Given the description of an element on the screen output the (x, y) to click on. 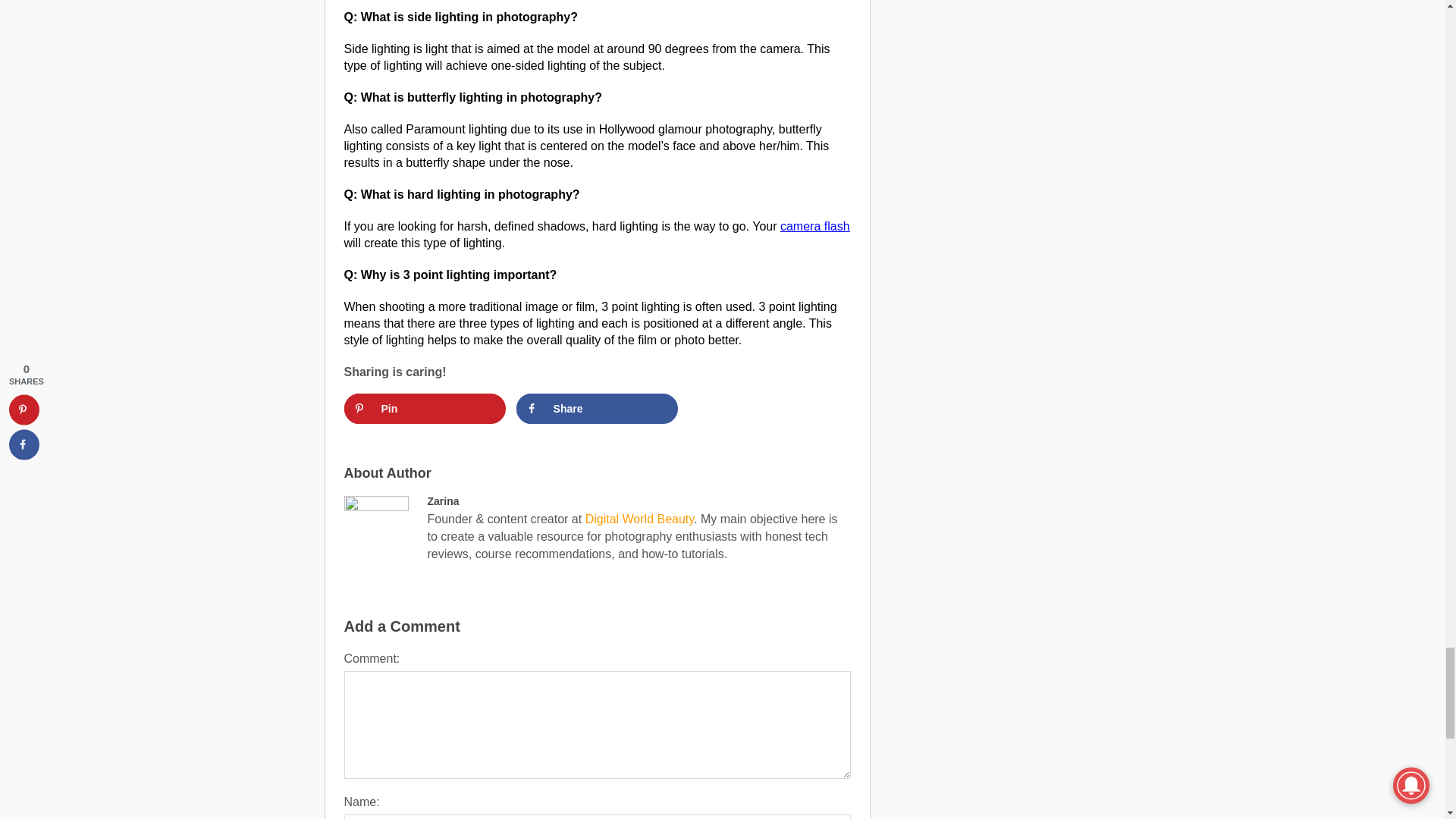
Save to Pinterest (424, 408)
Share on Facebook (597, 408)
